Given the description of an element on the screen output the (x, y) to click on. 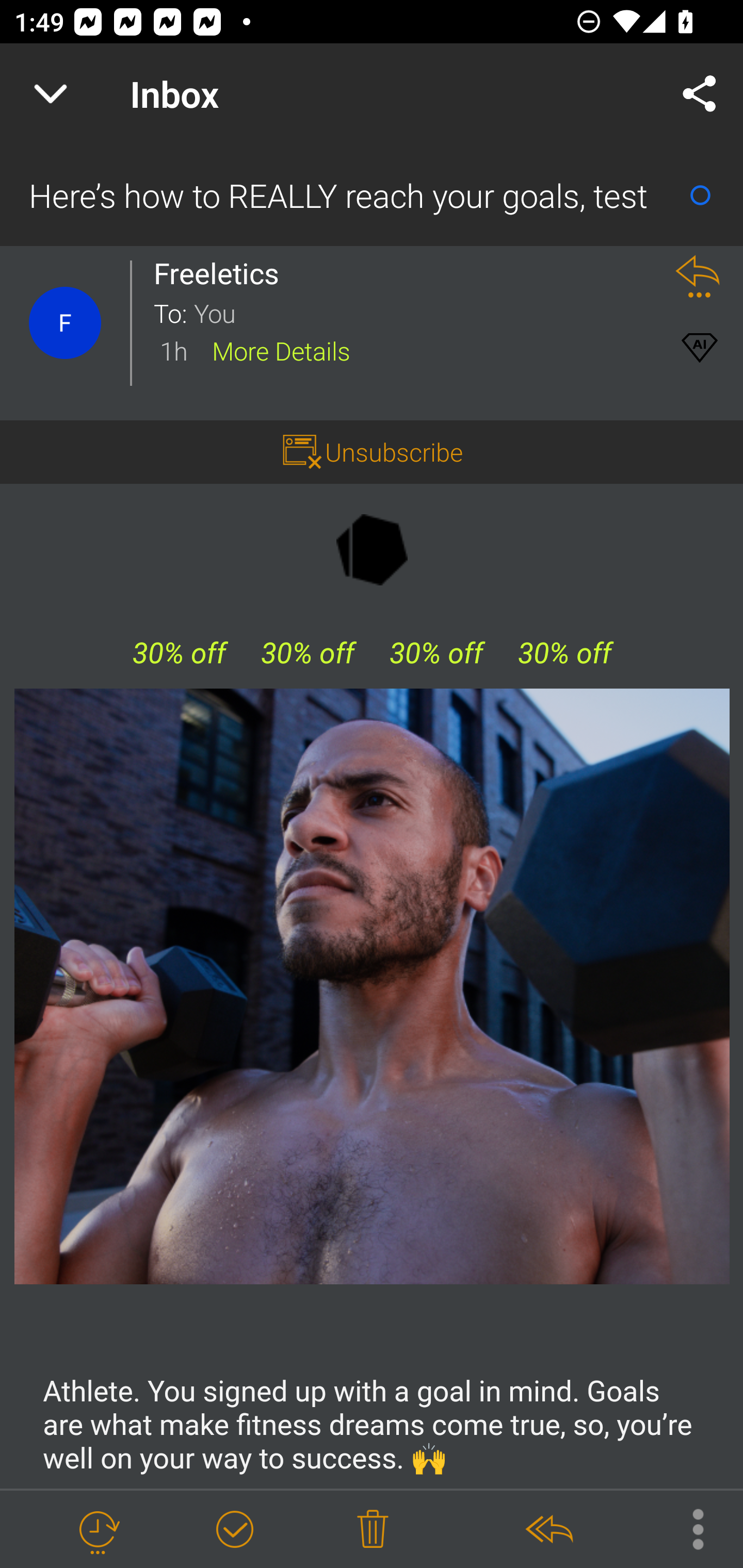
Navigate up (50, 93)
Share (699, 93)
Mark as Read (699, 194)
Freeletics (221, 273)
Contact Details (64, 322)
You (422, 311)
More Details (280, 349)
Unsubscribe (393, 451)
original (372, 985)
Snooze (97, 1529)
Mark as Done (234, 1529)
Delete (372, 1529)
Reply All (548, 1529)
